Given the description of an element on the screen output the (x, y) to click on. 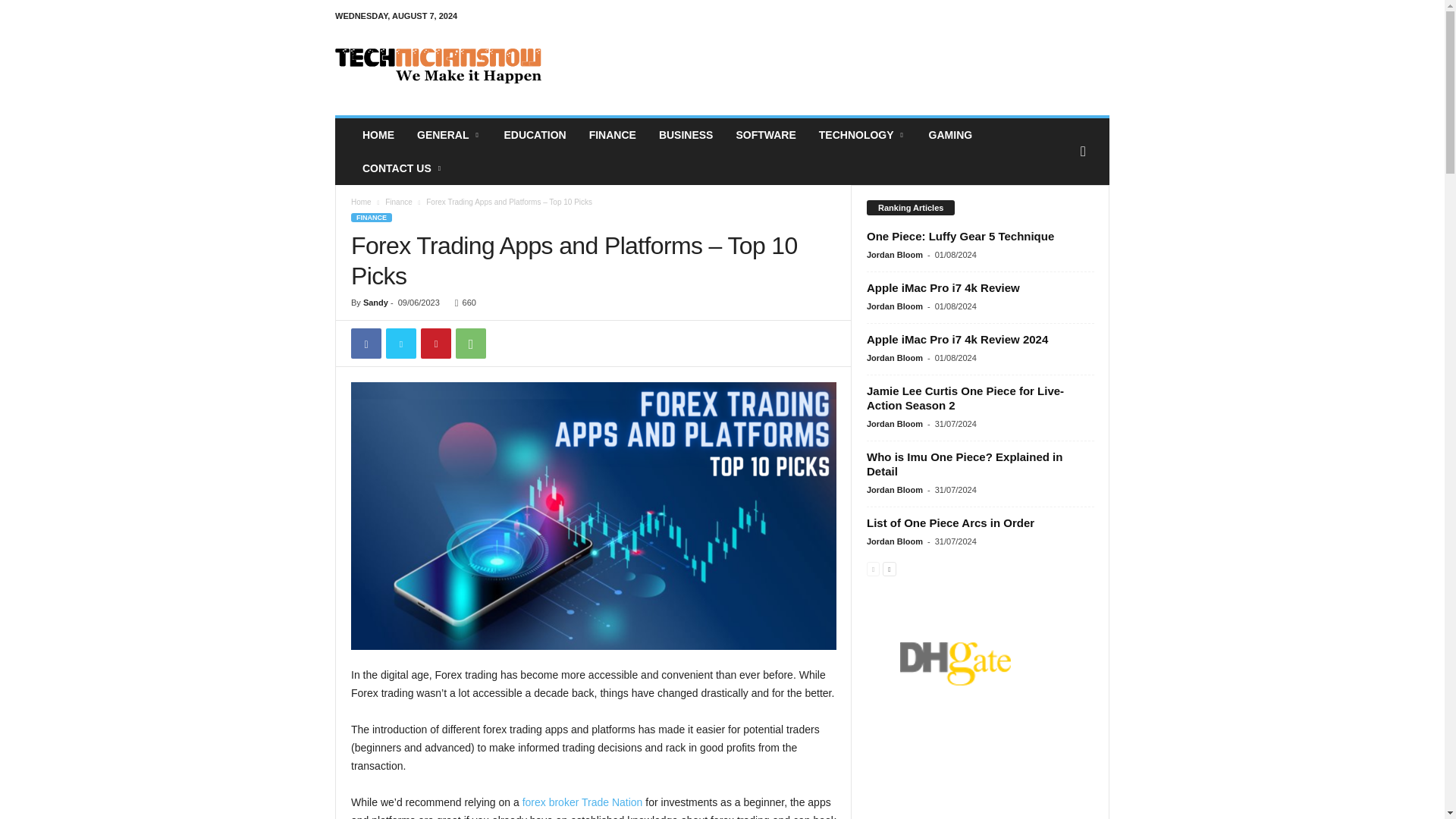
Pinterest (435, 343)
HOME (378, 134)
Techniciansnow (437, 65)
BUSINESS (686, 134)
TECHNOLOGY (862, 134)
Facebook (365, 343)
GENERAL (449, 134)
SOFTWARE (764, 134)
FINANCE (612, 134)
WhatsApp (470, 343)
